Given the description of an element on the screen output the (x, y) to click on. 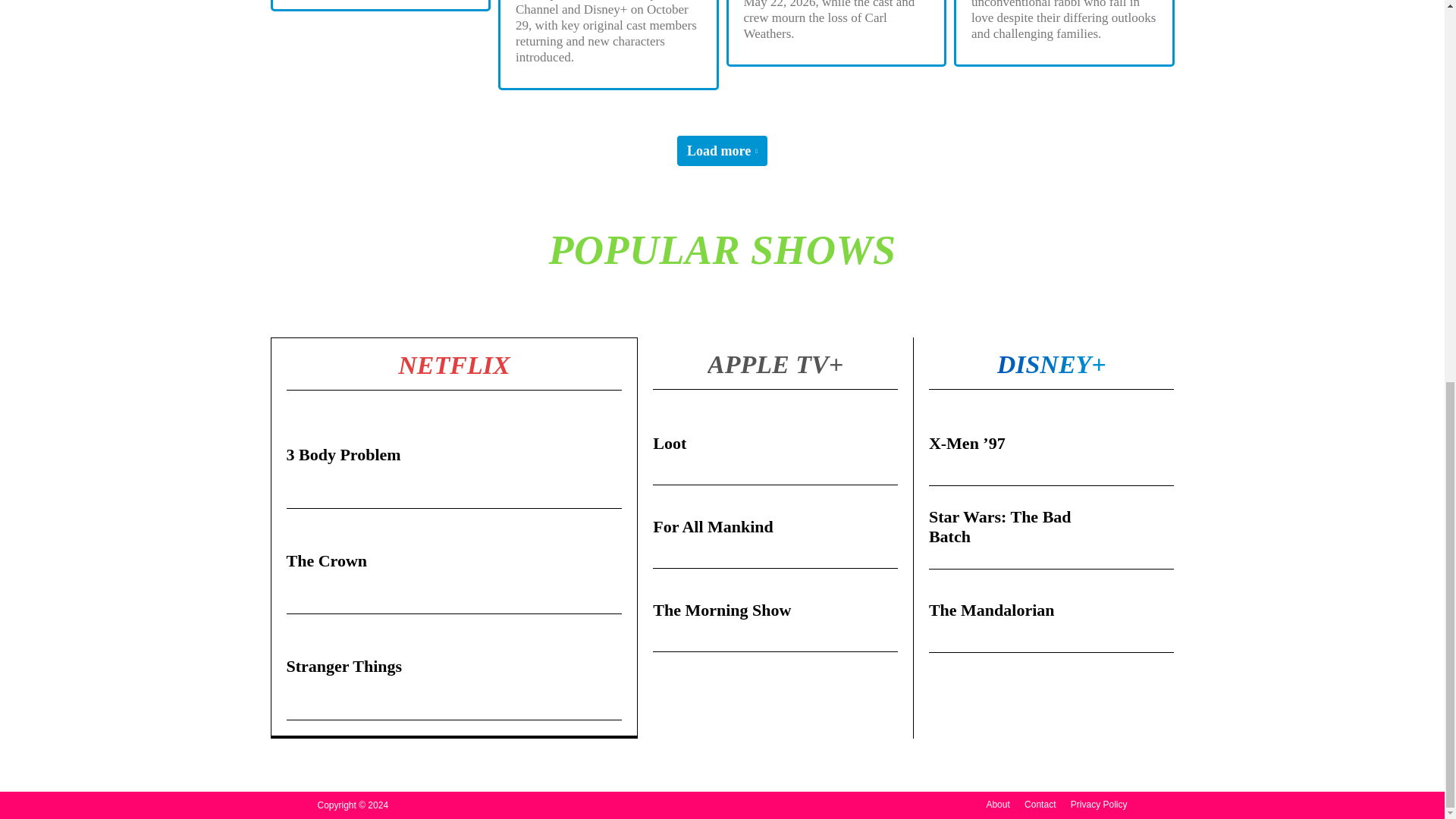
The Crown (327, 560)
Load more (722, 150)
3 Body Problem (343, 454)
